Given the description of an element on the screen output the (x, y) to click on. 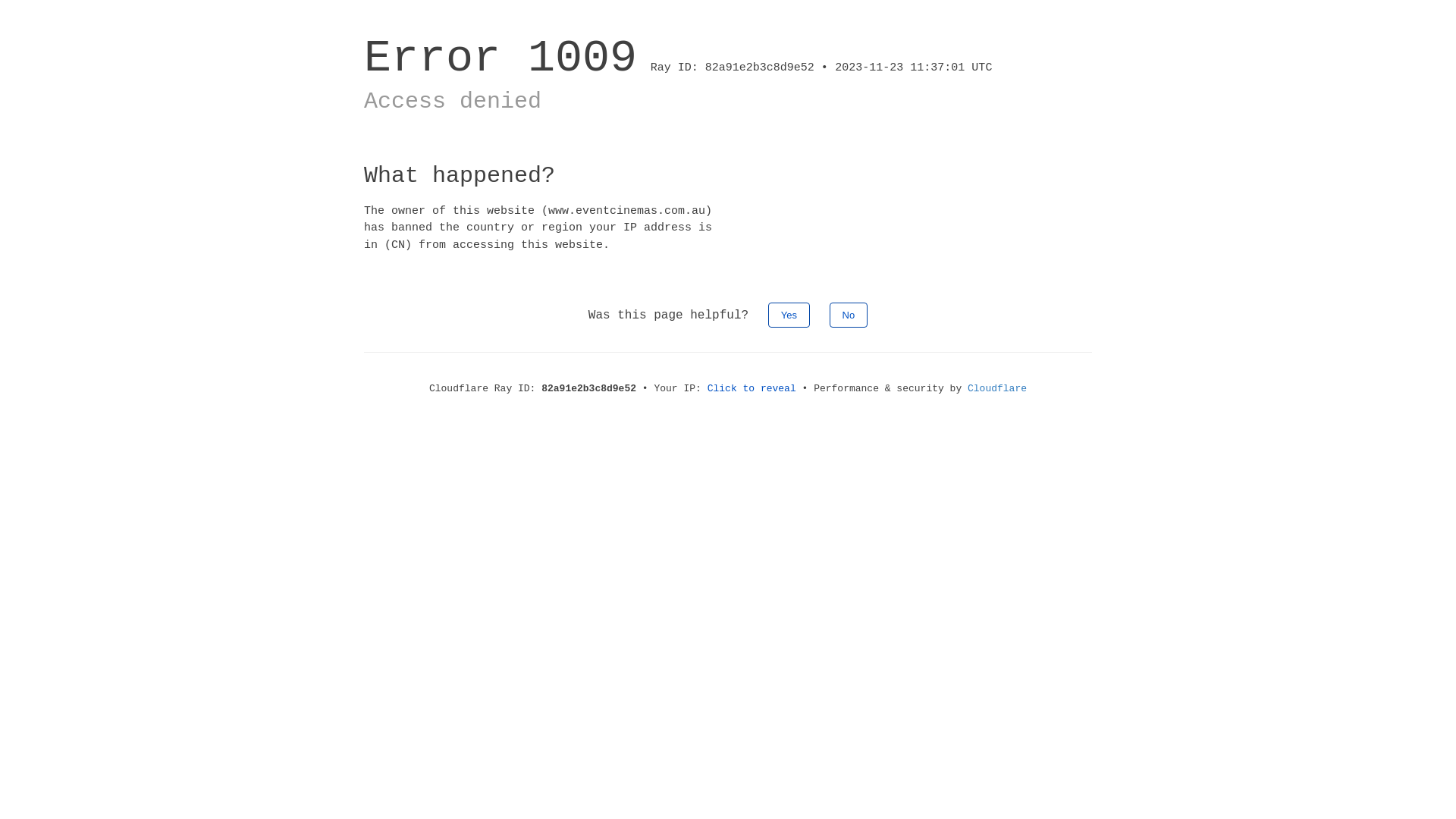
Yes Element type: text (788, 314)
No Element type: text (848, 314)
Click to reveal Element type: text (751, 388)
Cloudflare Element type: text (996, 388)
